Given the description of an element on the screen output the (x, y) to click on. 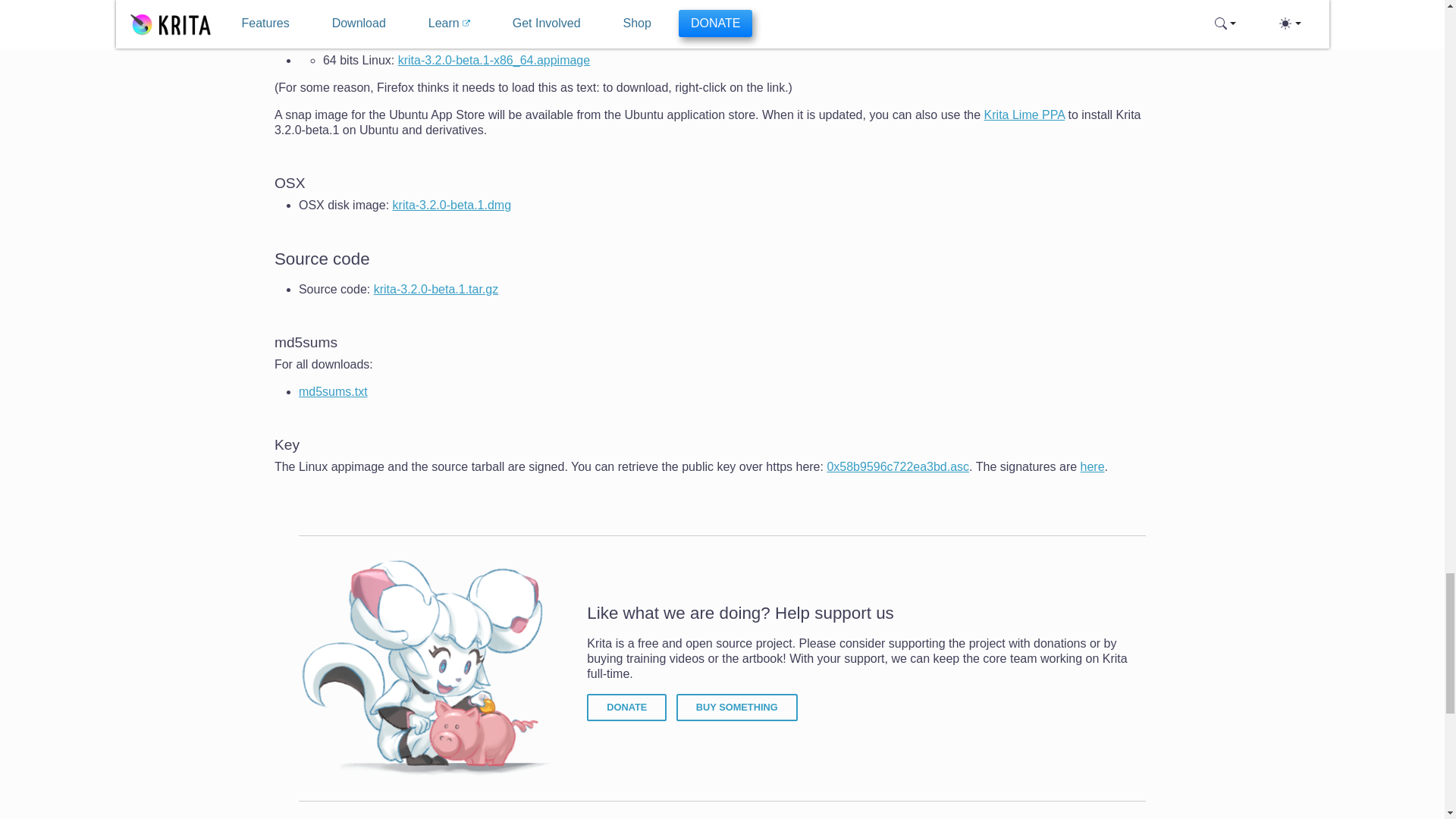
here (1092, 466)
DONATE (626, 707)
0x58b9596c722ea3bd.asc (898, 466)
krita-3.2.0-beta.1.tar.gz (436, 288)
krita-3.2.0-beta.1.dmg (452, 205)
Krita Lime PPA (1024, 114)
md5sums.txt (333, 391)
BUY SOMETHING (737, 707)
